Given the description of an element on the screen output the (x, y) to click on. 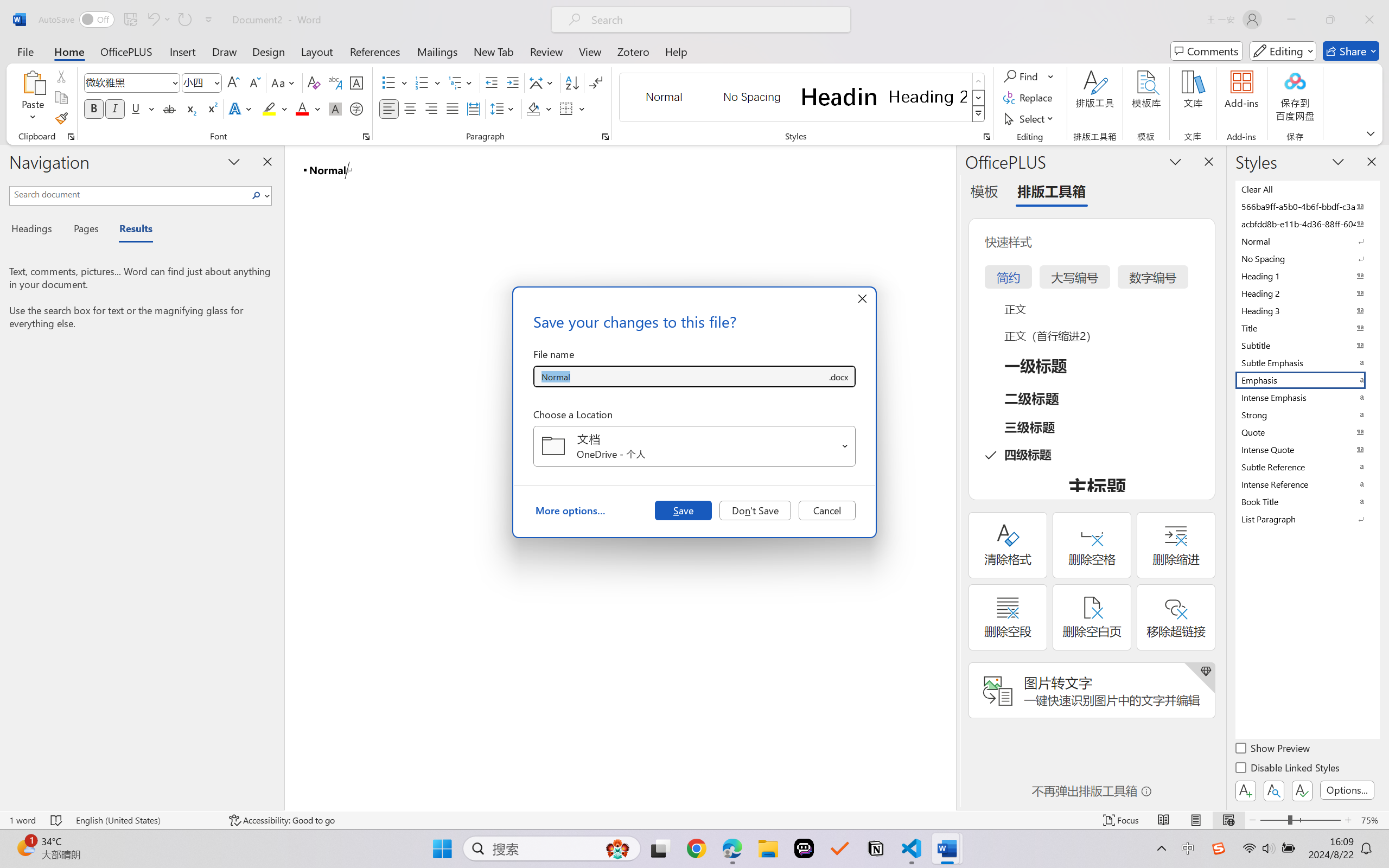
Mode (1283, 50)
Class: NetUIButton (1301, 790)
Center (409, 108)
Paste (33, 97)
Choose a Location (694, 446)
Comments (1206, 50)
Review (546, 51)
Font Color (308, 108)
Bullets (388, 82)
Row up (978, 81)
Increase Indent (512, 82)
Undo Style (152, 19)
